Given the description of an element on the screen output the (x, y) to click on. 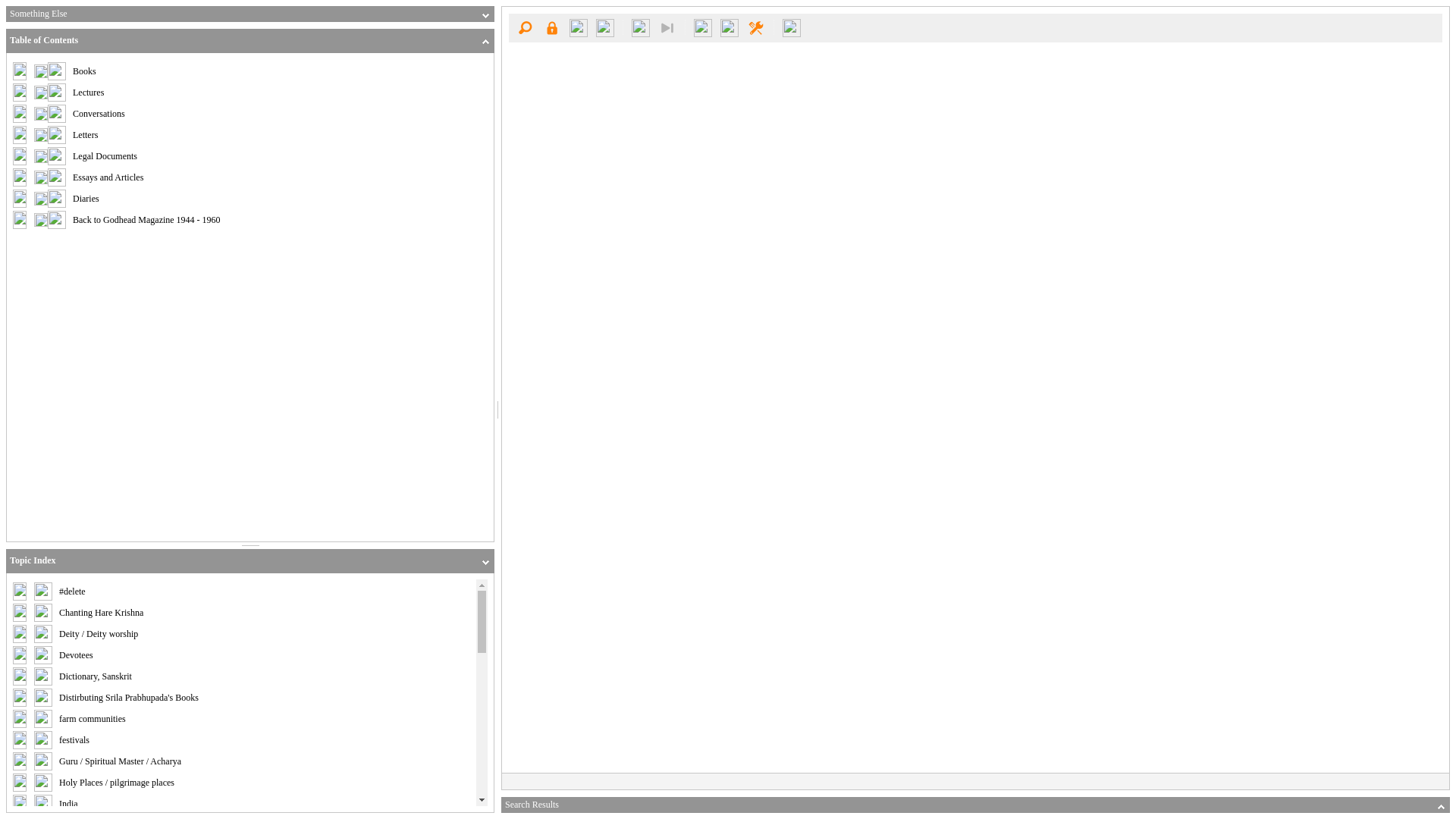
Settings (755, 27)
Next Search Hit (666, 27)
Previous Document (578, 27)
Bookmark (729, 27)
Login (551, 27)
Highlight Text (703, 27)
Help (791, 27)
Search (525, 27)
Next Document (604, 27)
Previous Search Hit (640, 27)
